Given the description of an element on the screen output the (x, y) to click on. 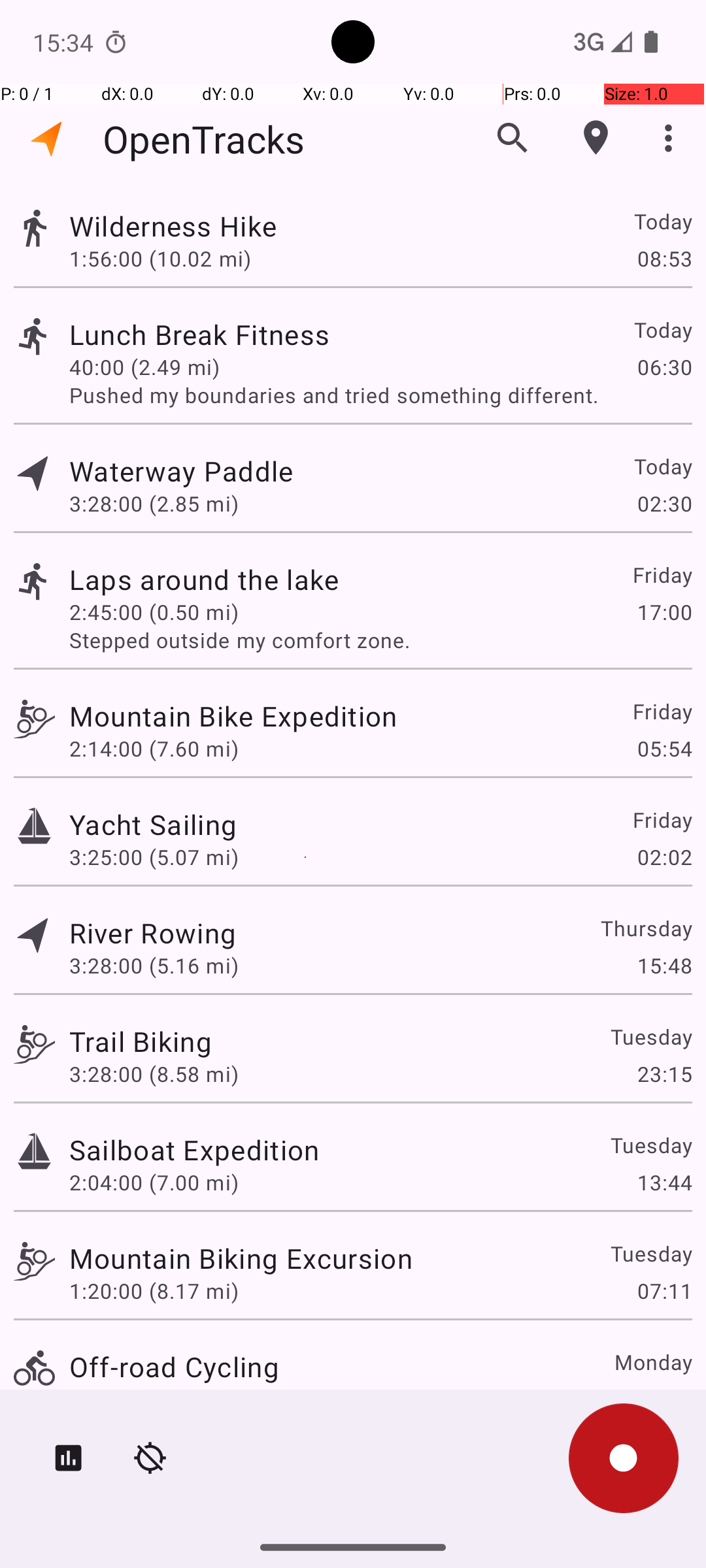
Wilderness Hike Element type: android.widget.TextView (172, 225)
1:56:00 (10.02 mi) Element type: android.widget.TextView (159, 258)
08:53 Element type: android.widget.TextView (664, 258)
Lunch Break Fitness Element type: android.widget.TextView (199, 333)
40:00 (2.49 mi) Element type: android.widget.TextView (144, 366)
06:30 Element type: android.widget.TextView (664, 366)
Pushed my boundaries and tried something different. Element type: android.widget.TextView (380, 394)
Waterway Paddle Element type: android.widget.TextView (180, 470)
3:28:00 (2.85 mi) Element type: android.widget.TextView (153, 503)
02:30 Element type: android.widget.TextView (664, 503)
Laps around the lake Element type: android.widget.TextView (203, 578)
2:45:00 (0.50 mi) Element type: android.widget.TextView (153, 611)
Stepped outside my comfort zone. Element type: android.widget.TextView (380, 639)
Mountain Bike Expedition Element type: android.widget.TextView (233, 715)
2:14:00 (7.60 mi) Element type: android.widget.TextView (153, 748)
05:54 Element type: android.widget.TextView (664, 748)
Yacht Sailing Element type: android.widget.TextView (152, 823)
3:25:00 (5.07 mi) Element type: android.widget.TextView (153, 856)
02:02 Element type: android.widget.TextView (664, 856)
River Rowing Element type: android.widget.TextView (152, 932)
3:28:00 (5.16 mi) Element type: android.widget.TextView (153, 965)
15:48 Element type: android.widget.TextView (664, 965)
Trail Biking Element type: android.widget.TextView (140, 1040)
3:28:00 (8.58 mi) Element type: android.widget.TextView (153, 1073)
23:15 Element type: android.widget.TextView (664, 1073)
Sailboat Expedition Element type: android.widget.TextView (193, 1149)
2:04:00 (7.00 mi) Element type: android.widget.TextView (153, 1182)
13:44 Element type: android.widget.TextView (664, 1182)
Mountain Biking Excursion Element type: android.widget.TextView (240, 1257)
1:20:00 (8.17 mi) Element type: android.widget.TextView (153, 1290)
07:11 Element type: android.widget.TextView (664, 1290)
Off-road Cycling Element type: android.widget.TextView (173, 1366)
1:00:00 (1.29 mi) Element type: android.widget.TextView (153, 1399)
18:17 Element type: android.widget.TextView (664, 1399)
